Given the description of an element on the screen output the (x, y) to click on. 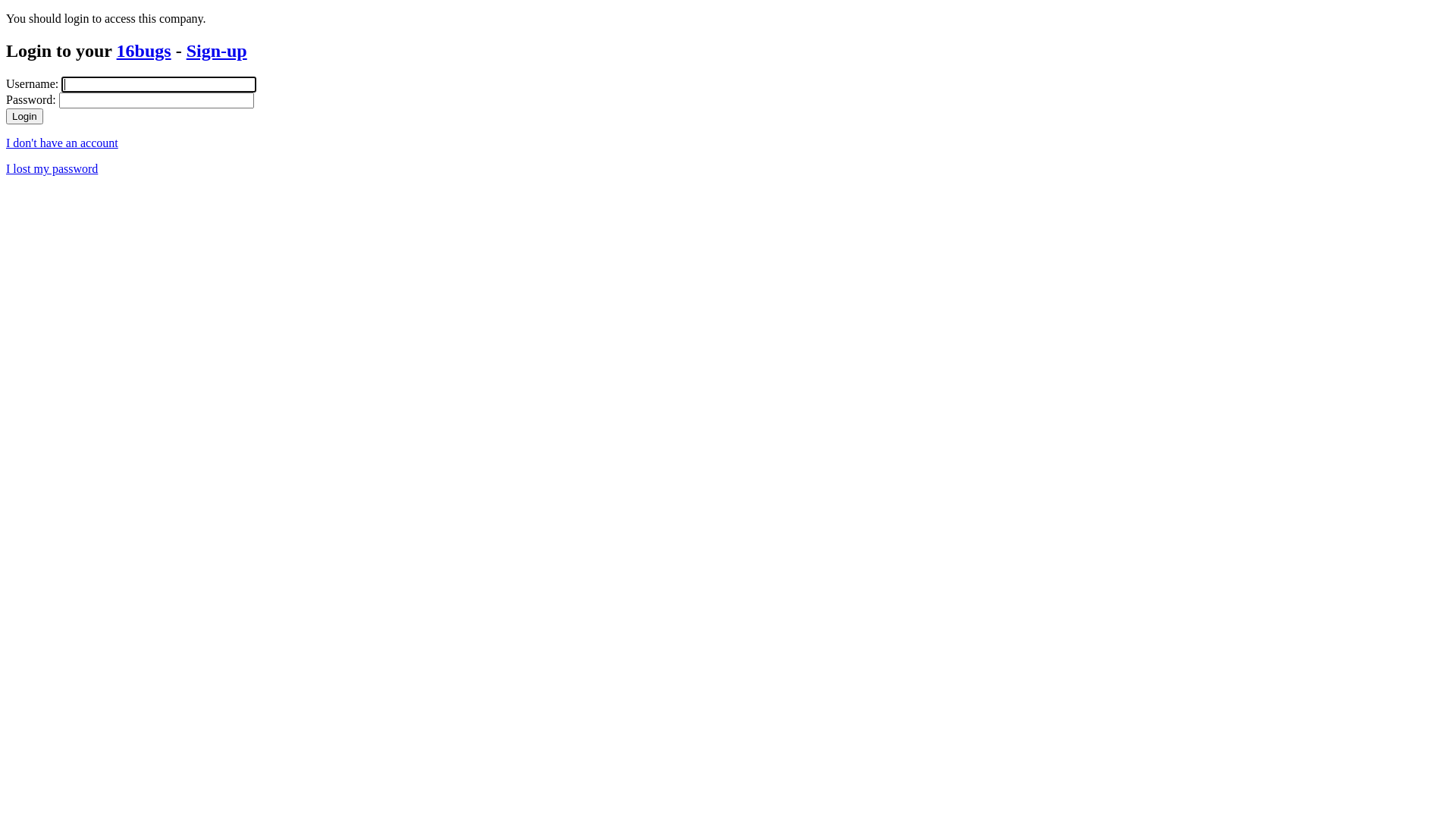
16bugs Element type: text (143, 50)
I don't have an account Element type: text (62, 142)
I lost my password Element type: text (51, 168)
You should login to access this company. Element type: text (727, 18)
Sign-up Element type: text (216, 50)
Login Element type: text (24, 116)
